Given the description of an element on the screen output the (x, y) to click on. 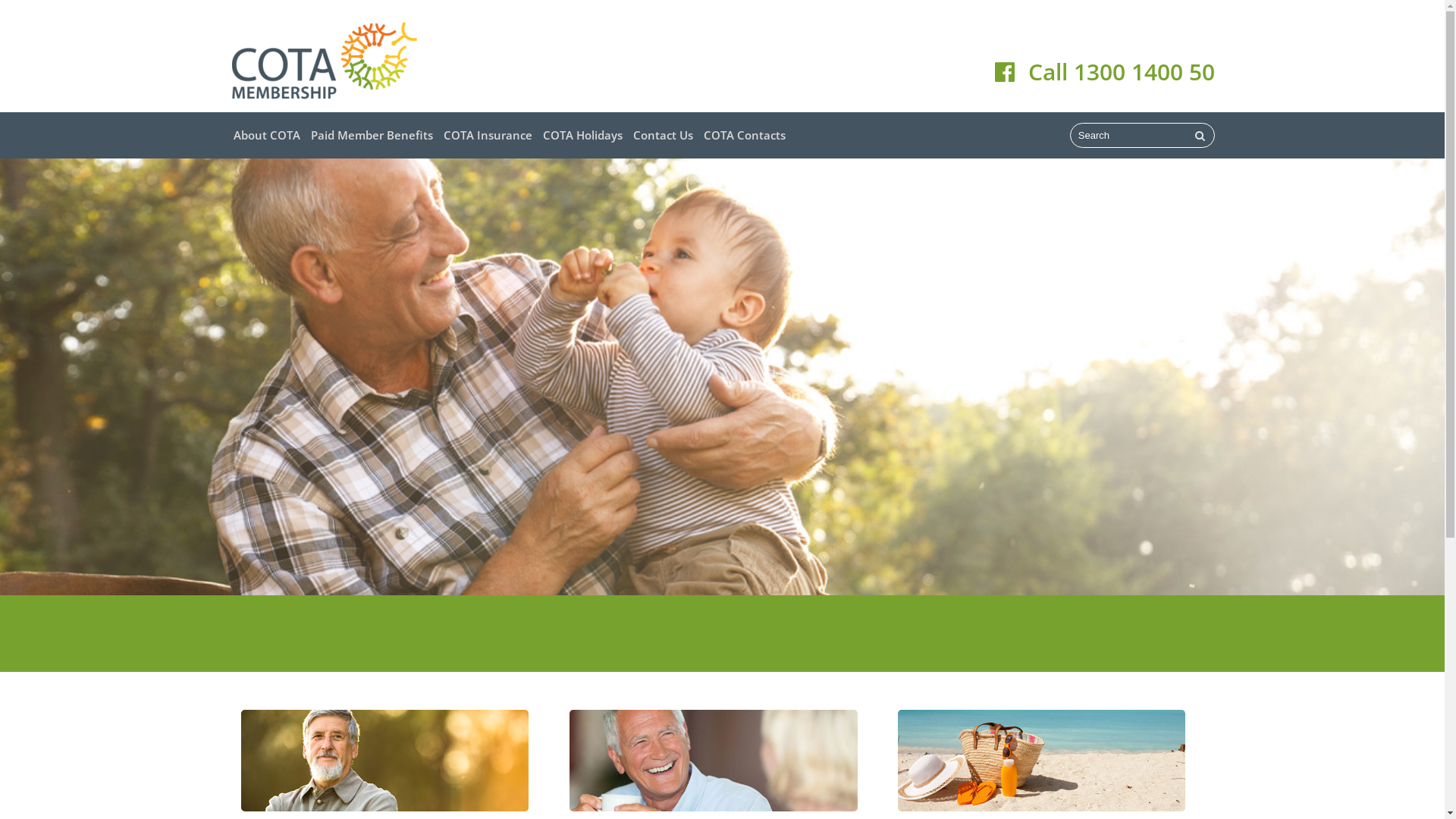
COTA Insurance Element type: text (487, 134)
COTA Contacts Element type: text (743, 134)
Call 1300 1400 50 Element type: text (1121, 71)
COTA Holidays Element type: text (581, 134)
Contact Us Element type: text (662, 134)
Paid Member Benefits Element type: text (371, 134)
About COTA Element type: text (266, 134)
